Given the description of an element on the screen output the (x, y) to click on. 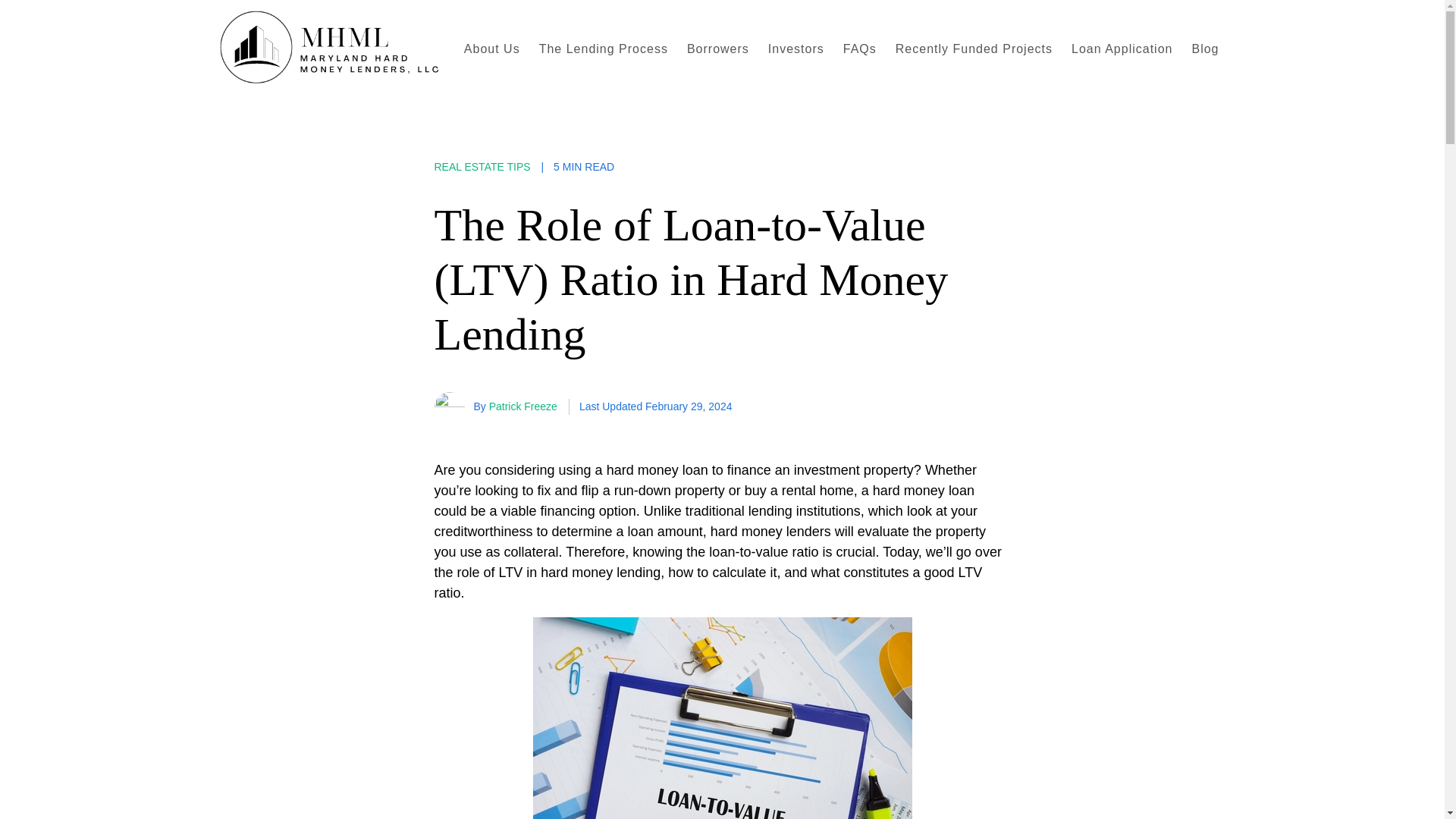
REAL ESTATE TIPS (481, 166)
Borrowers (718, 48)
The Lending Process (603, 48)
Recently Funded Projects (973, 48)
Patrick Freeze (523, 406)
Loan Application (1121, 48)
